Given the description of an element on the screen output the (x, y) to click on. 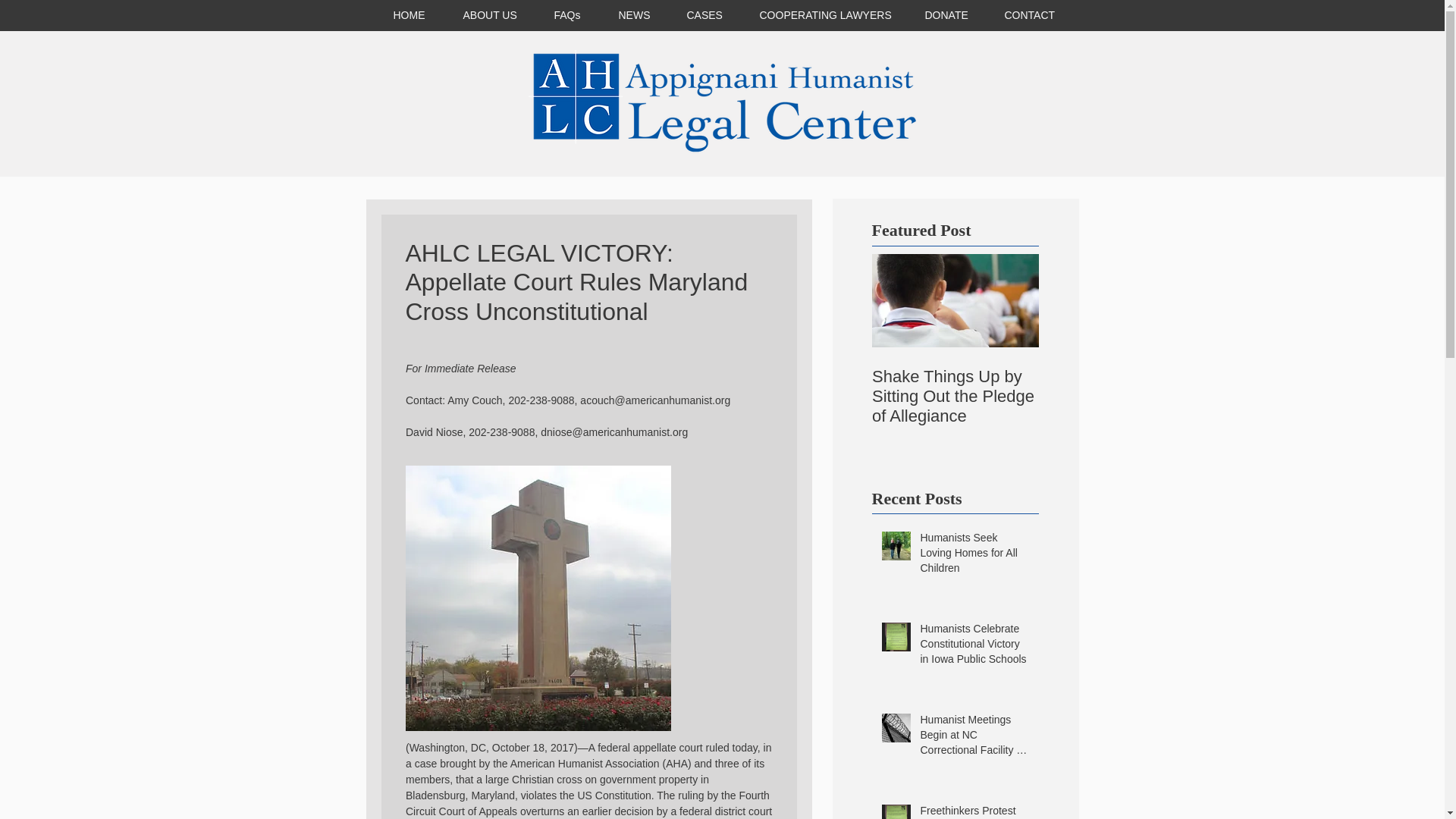
HOME (409, 15)
NEWS (632, 15)
DONATE (945, 15)
FAQs (567, 15)
Humanists Seek Loving Homes for All Children (974, 555)
CONTACT (1028, 15)
COOPERATING LAWYERS (822, 15)
Freethinkers Protest Iowa Public School Visit to Bible Play (974, 811)
ABOUT US (489, 15)
